Given the description of an element on the screen output the (x, y) to click on. 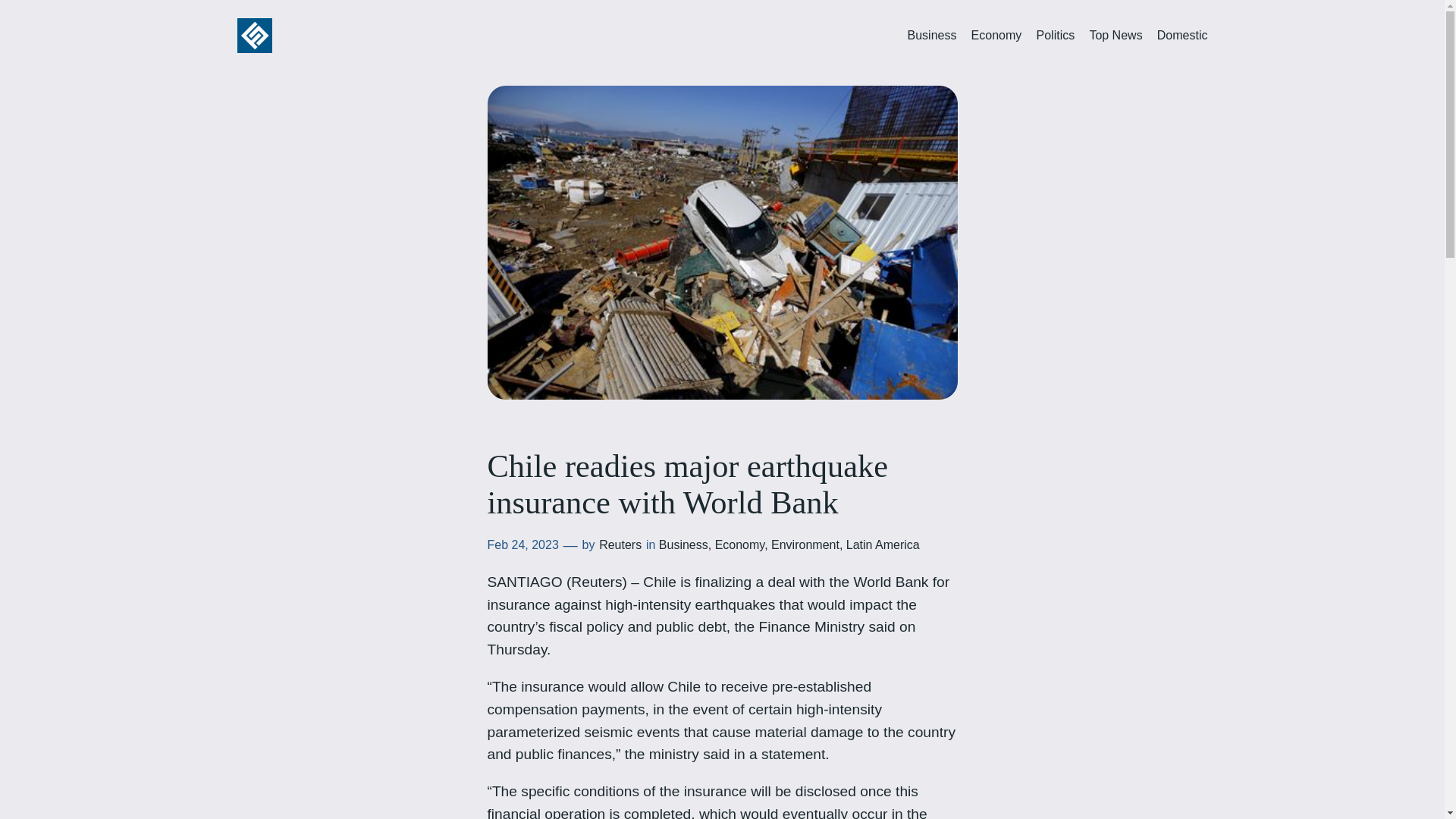
Environment (805, 544)
Economy (996, 35)
Feb 24, 2023 (521, 544)
Reuters (620, 544)
Latin America (882, 544)
Politics (1054, 35)
Top News (1115, 35)
Domestic (1182, 35)
Economy (739, 544)
Business (683, 544)
